Given the description of an element on the screen output the (x, y) to click on. 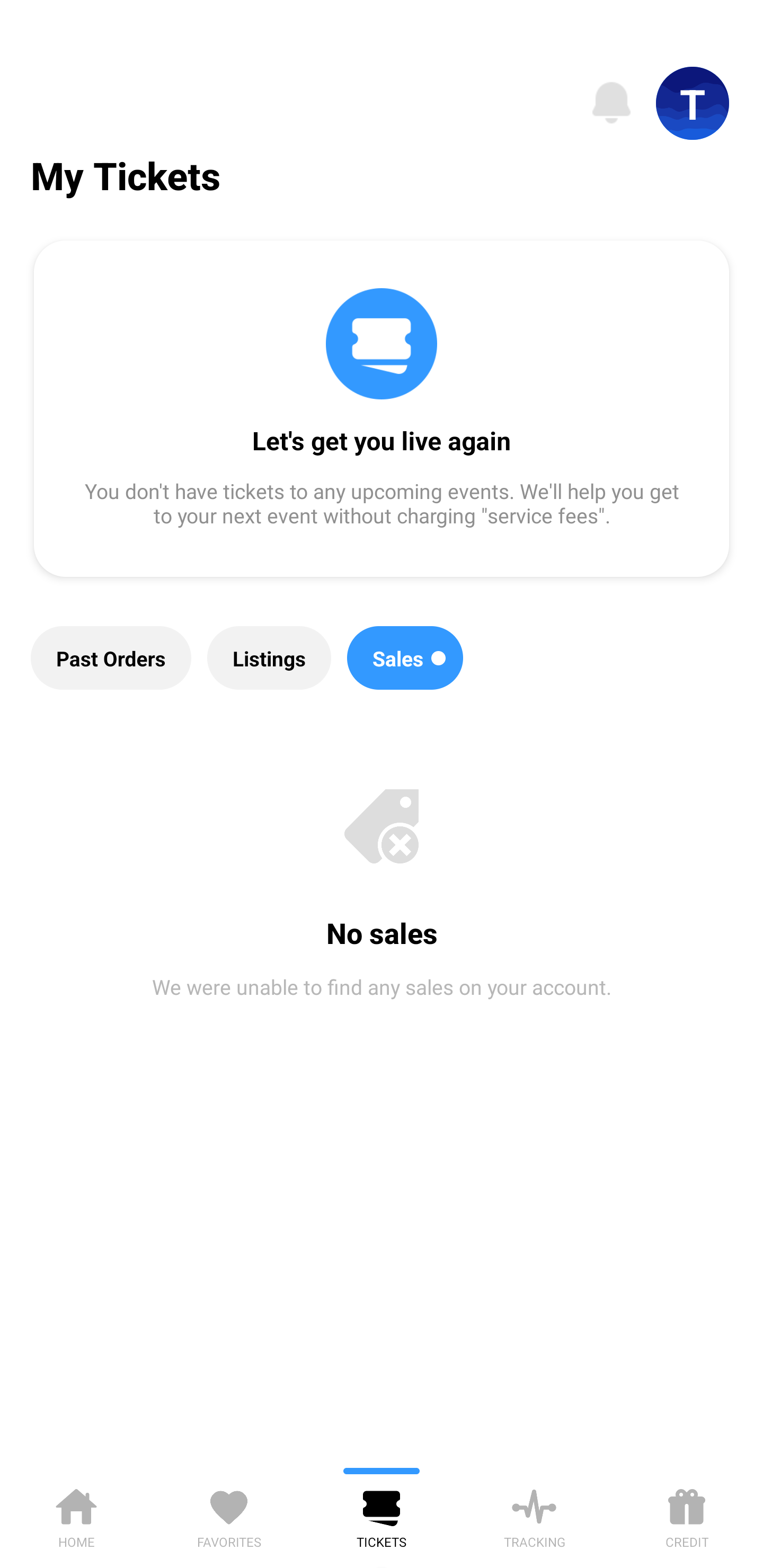
T (692, 103)
Past Orders (110, 657)
Listings (269, 657)
Sales (405, 657)
HOME (76, 1515)
FAVORITES (228, 1515)
TICKETS (381, 1515)
TRACKING (533, 1515)
CREDIT (686, 1515)
